Given the description of an element on the screen output the (x, y) to click on. 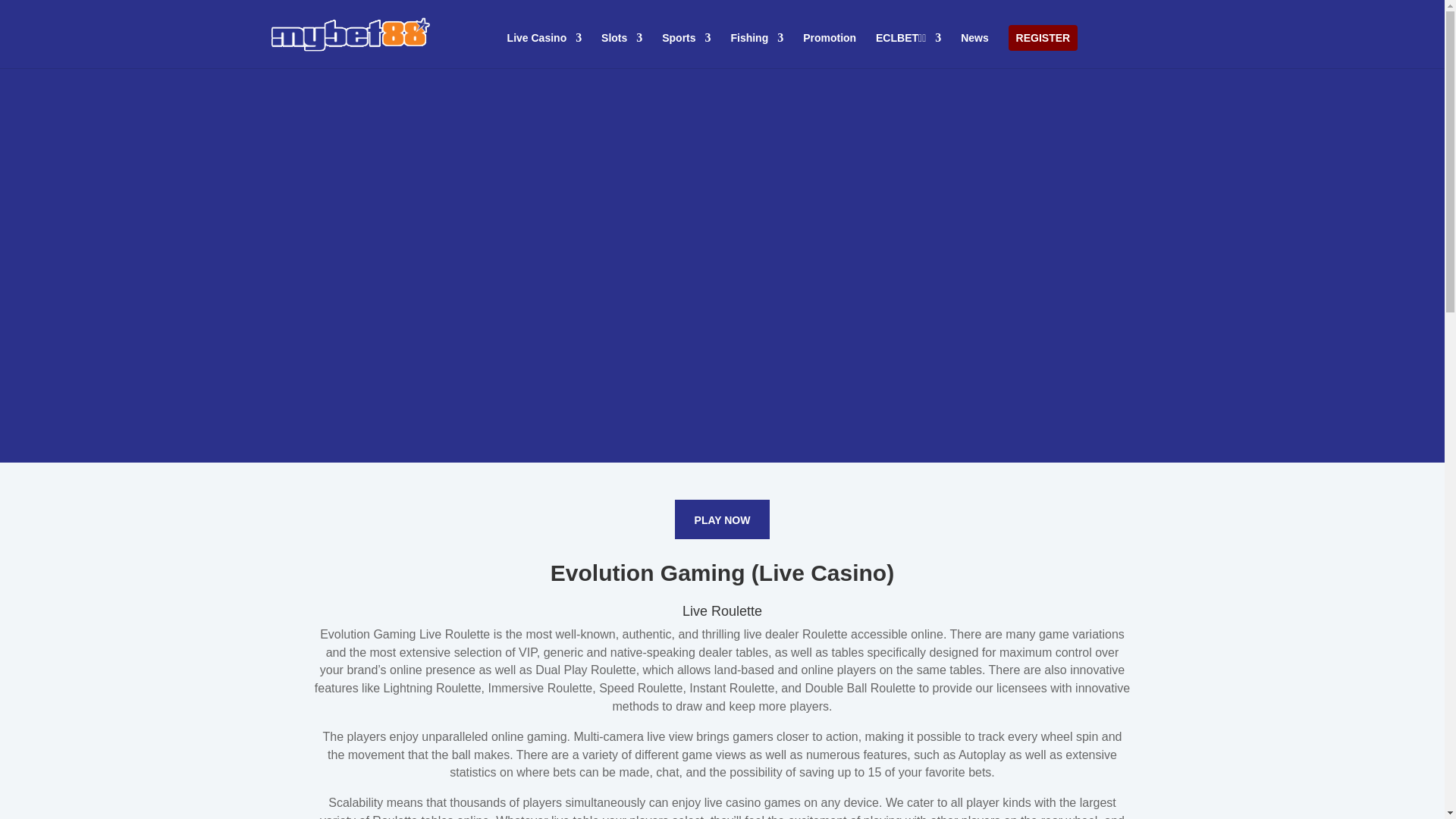
Fishing (756, 49)
Sports (686, 49)
Promotion (829, 49)
Slots (621, 49)
Live Casino (544, 49)
